Given the description of an element on the screen output the (x, y) to click on. 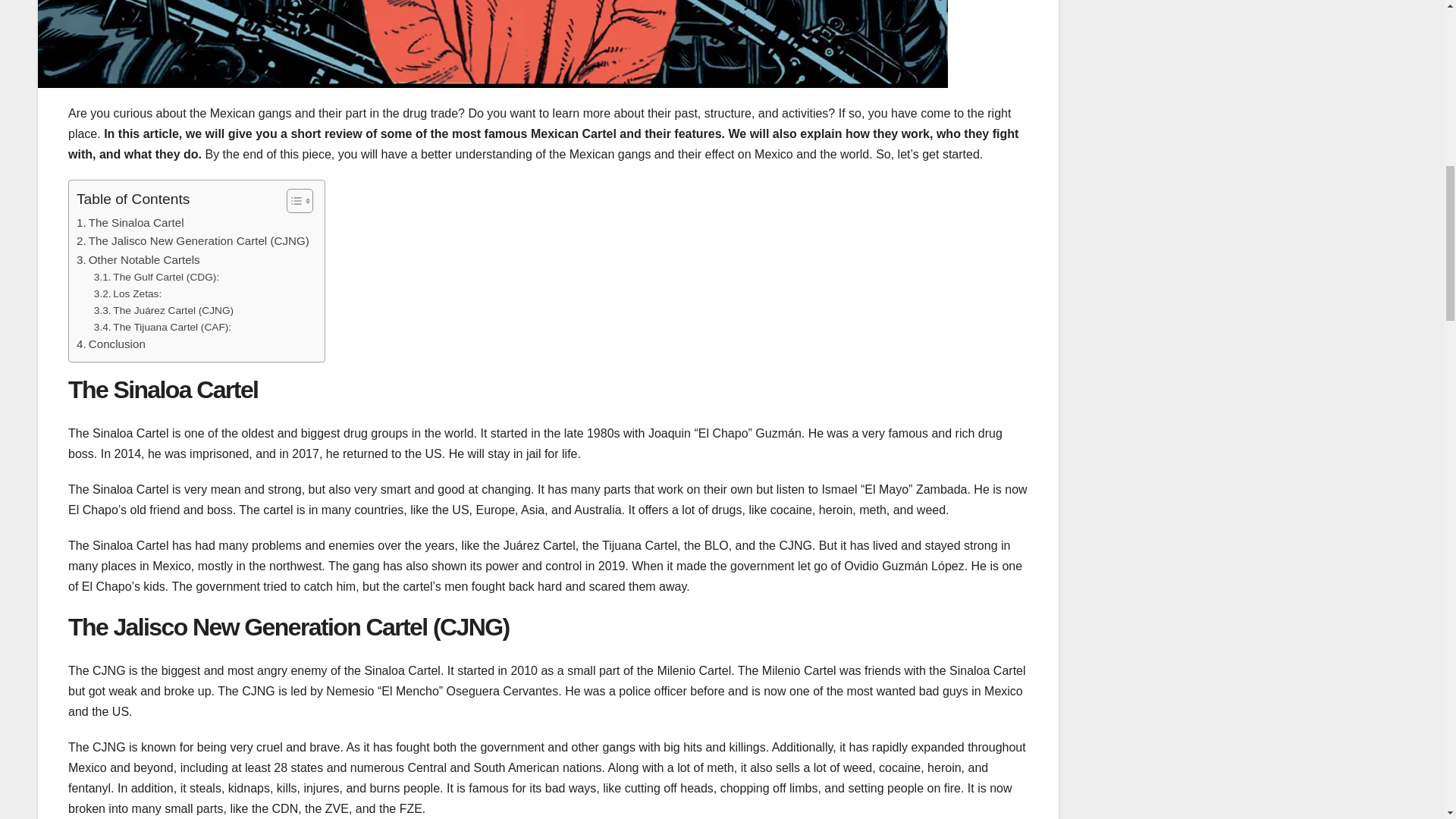
The Sinaloa Cartel (130, 222)
Other Notable Cartels (138, 259)
Conclusion (111, 343)
Other Notable Cartels (138, 259)
Los Zetas: (127, 293)
The Sinaloa Cartel (130, 222)
Los Zetas: (127, 293)
Conclusion (111, 343)
